Given the description of an element on the screen output the (x, y) to click on. 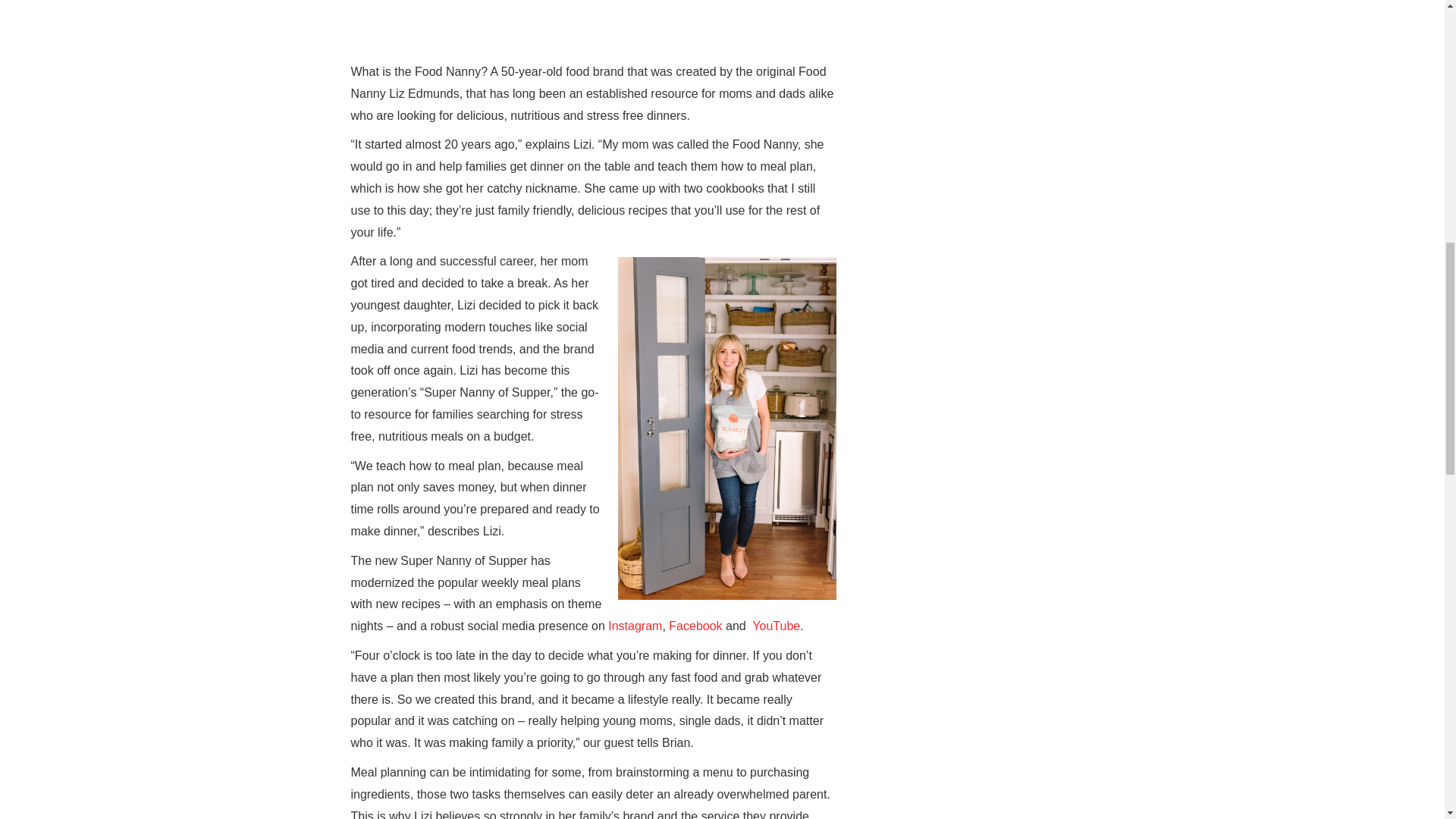
Facebook (693, 625)
Instagram (633, 625)
 YouTube (774, 625)
Spotify Embed: The Super Nanny of Supper (592, 20)
